Given the description of an element on the screen output the (x, y) to click on. 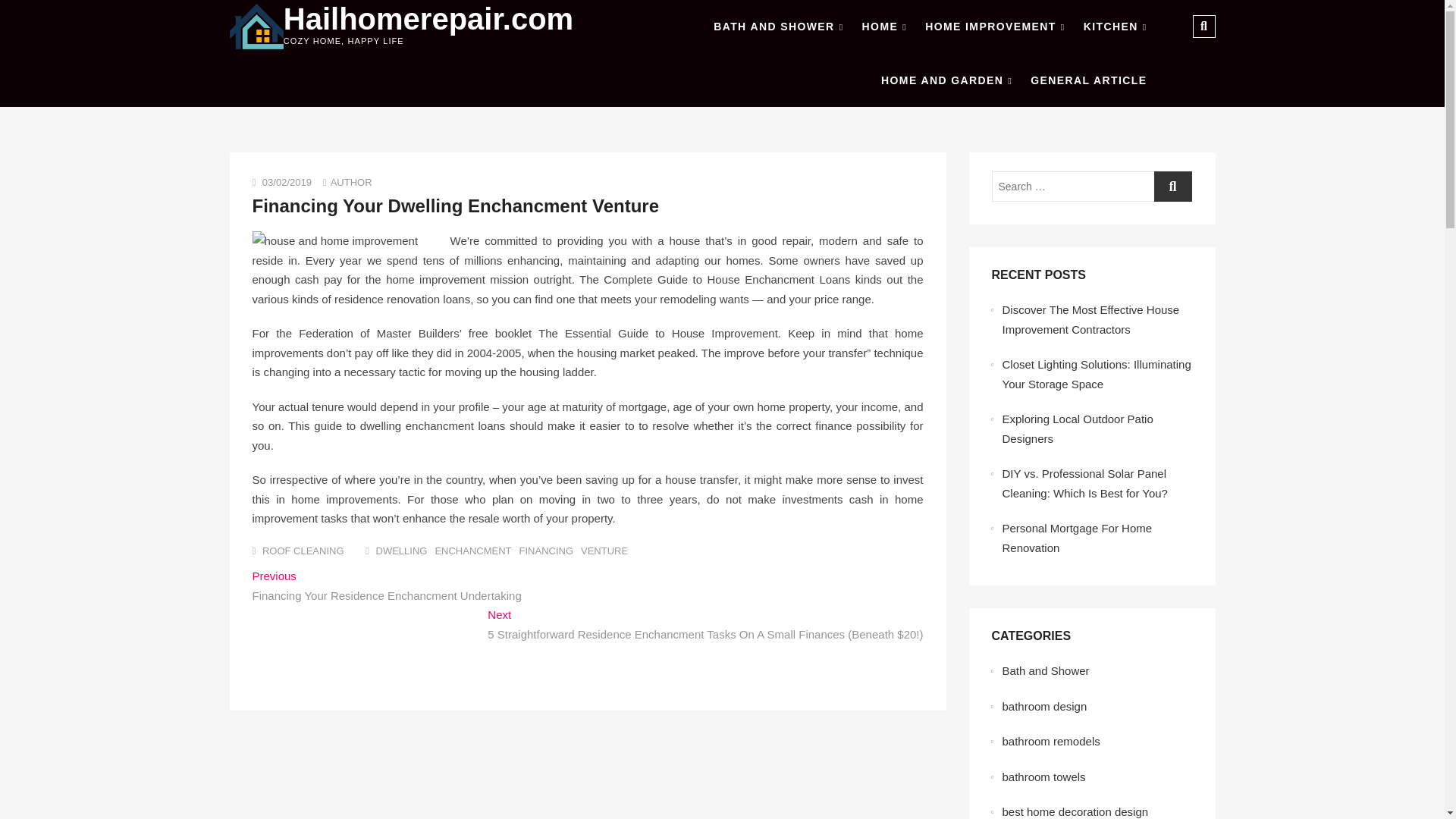
ROOF CLEANING (302, 550)
HOME AND GARDEN (946, 80)
Financing Your Dwelling Enchancment Venture (351, 182)
AUTHOR (351, 182)
Financing Your Dwelling Enchancment Venture (455, 205)
HOME IMPROVEMENT (994, 27)
Hailhomerepair.com (428, 19)
Hailhomerepair.com (428, 19)
HOME (884, 27)
GENERAL ARTICLE (1088, 80)
KITCHEN (1114, 27)
Financing Your Dwelling Enchancment Venture (455, 205)
BATH AND SHOWER (778, 27)
